Given the description of an element on the screen output the (x, y) to click on. 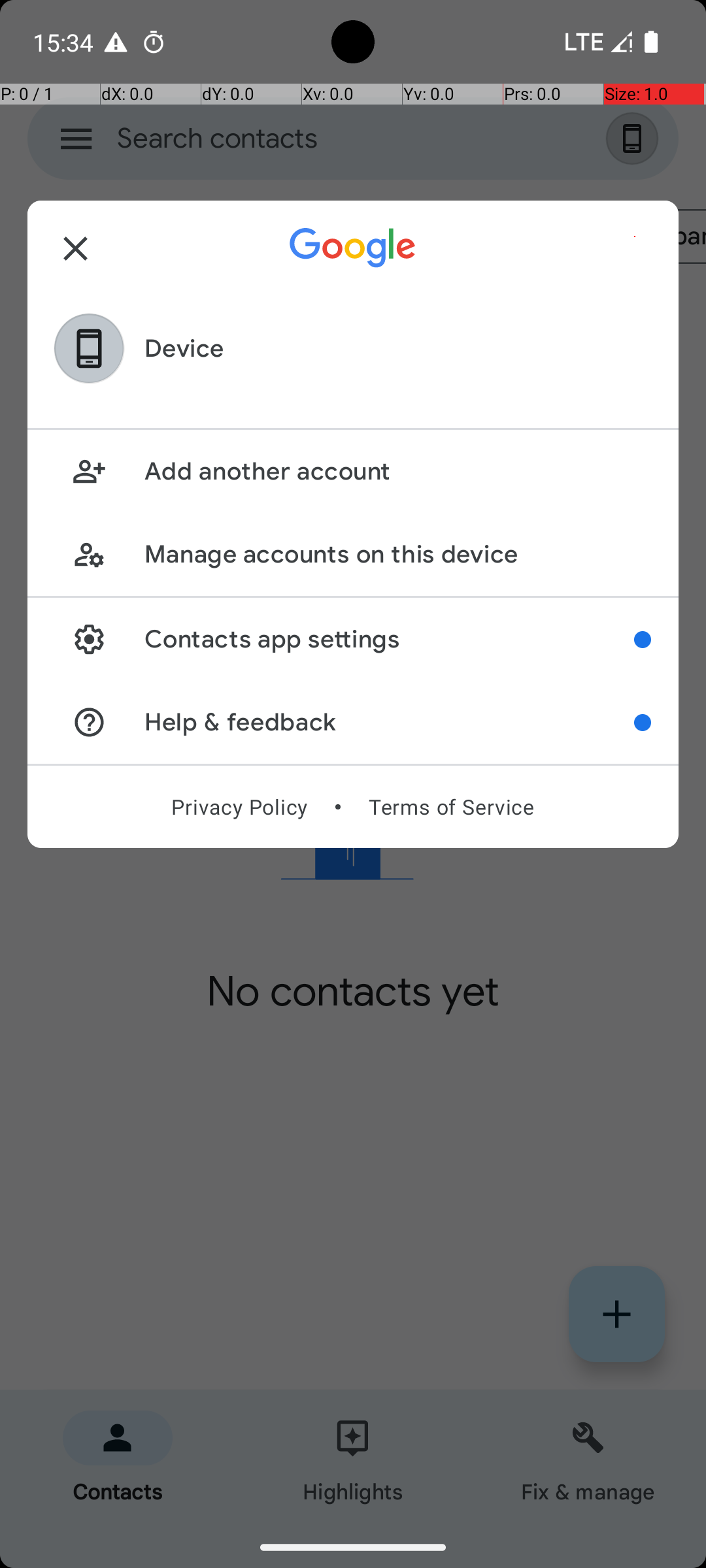
Close Element type: android.widget.ImageView (75, 248)
Privacy Policy Element type: android.widget.Button (239, 806)
Terms of Service Element type: android.widget.Button (450, 806)
Device Element type: android.widget.TextView (184, 348)
Add another account Element type: android.widget.TextView (397, 471)
Manage accounts on this device Element type: android.widget.TextView (397, 554)
Contacts app settings Element type: android.widget.TextView (389, 638)
Now you can find Settings and Help & feedback here Element type: android.widget.FrameLayout (642, 639)
Help & feedback Element type: android.widget.TextView (389, 721)
Phone one bar. Element type: android.widget.FrameLayout (595, 41)
